Given the description of an element on the screen output the (x, y) to click on. 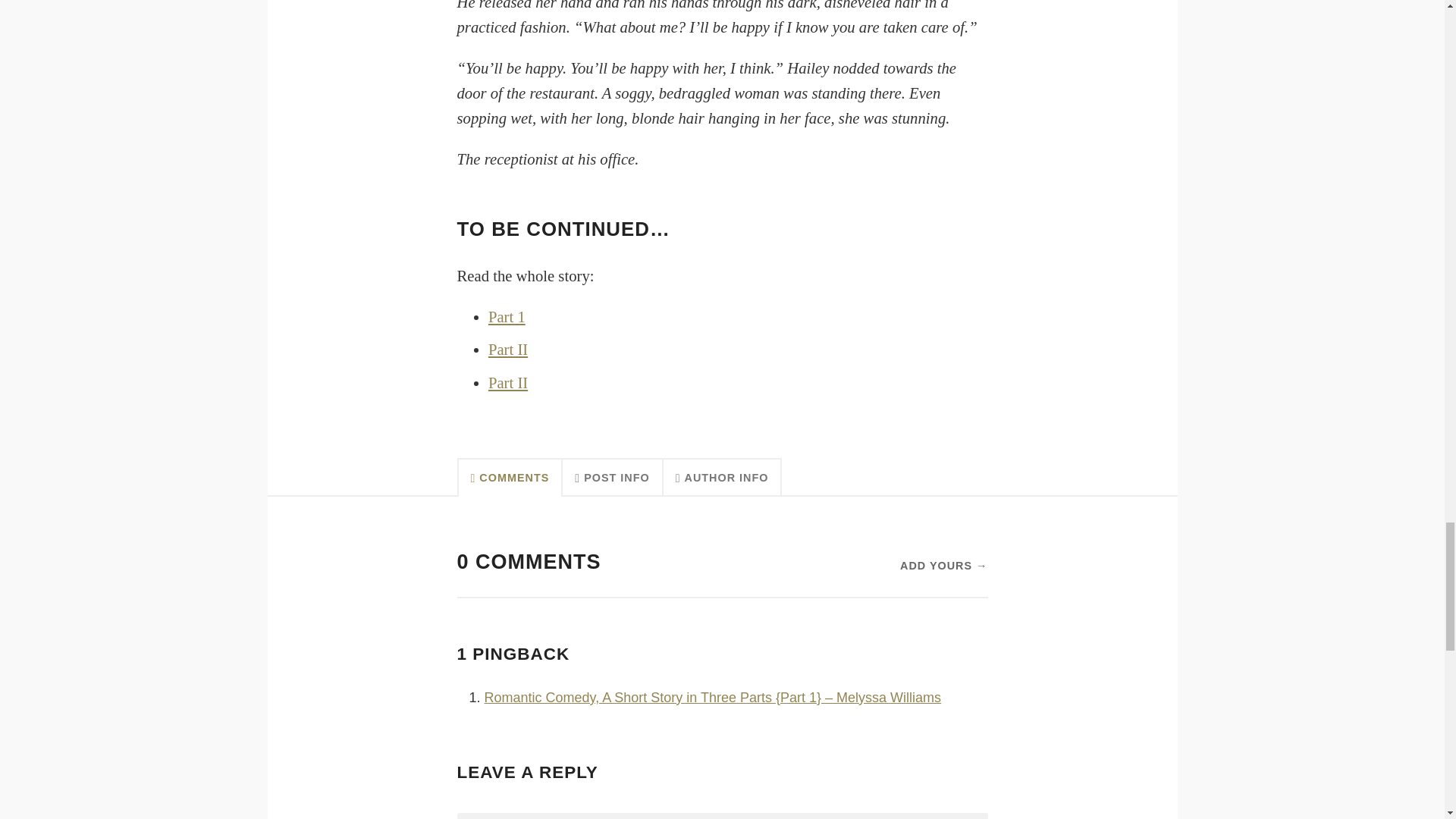
Part II (507, 382)
Part II (507, 349)
COMMENTS (509, 476)
AUTHOR INFO (723, 476)
Part 1 (506, 316)
POST INFO (612, 476)
